Given the description of an element on the screen output the (x, y) to click on. 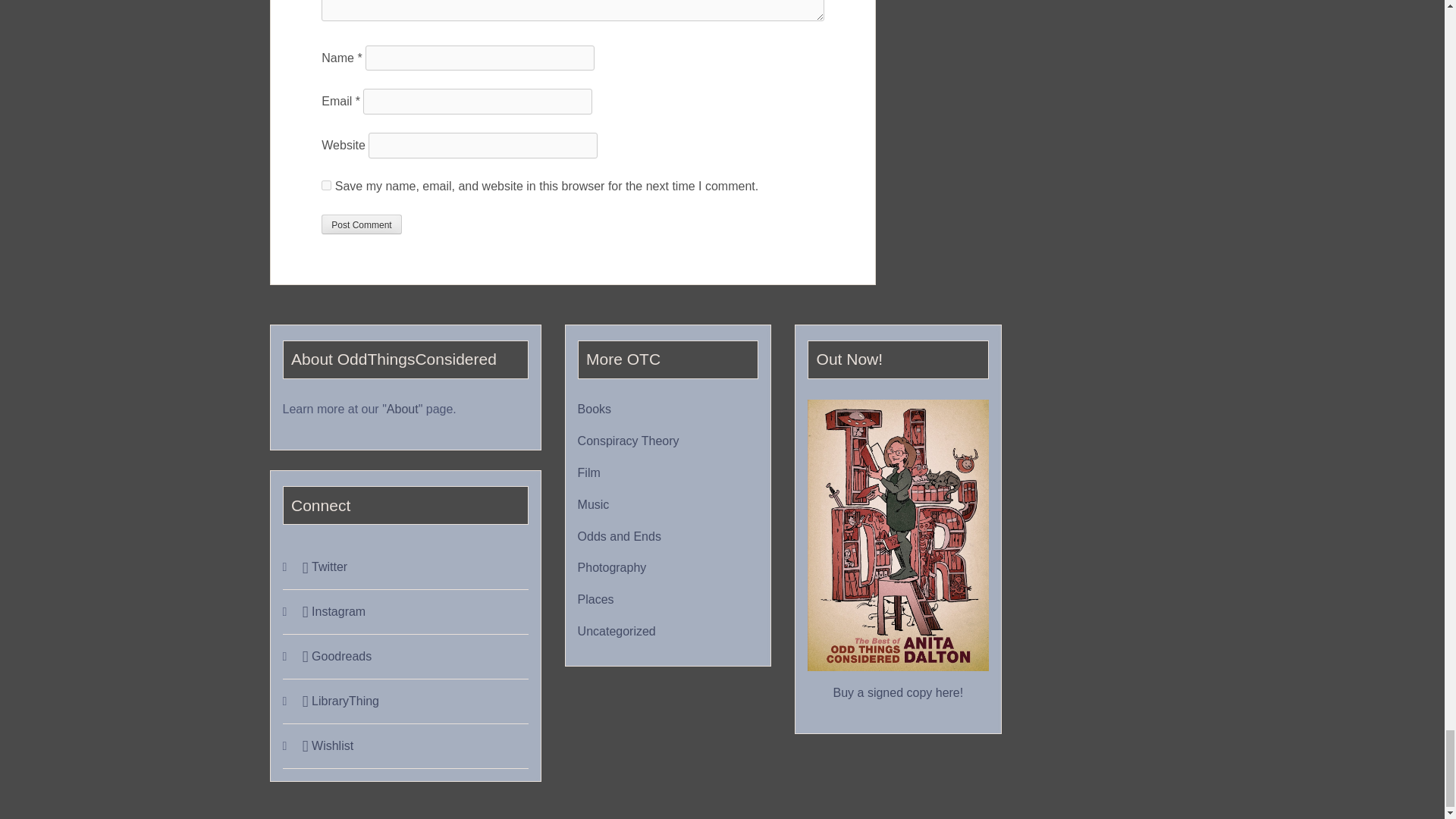
yes (326, 185)
Post Comment (361, 224)
Post Comment (361, 224)
